Given the description of an element on the screen output the (x, y) to click on. 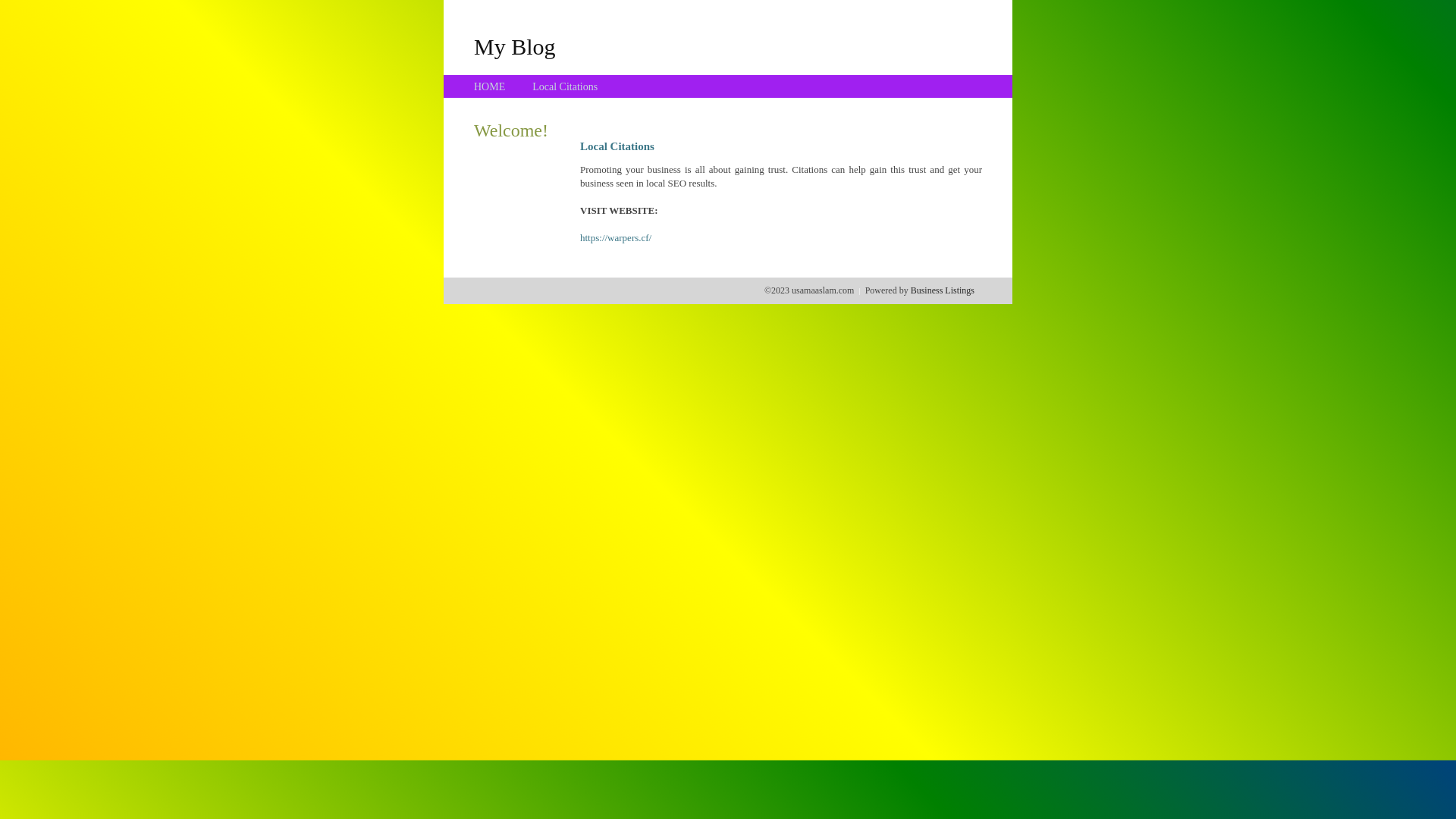
My Blog Element type: text (514, 46)
Business Listings Element type: text (942, 290)
Local Citations Element type: text (564, 86)
https://warpers.cf/ Element type: text (615, 237)
HOME Element type: text (489, 86)
